Given the description of an element on the screen output the (x, y) to click on. 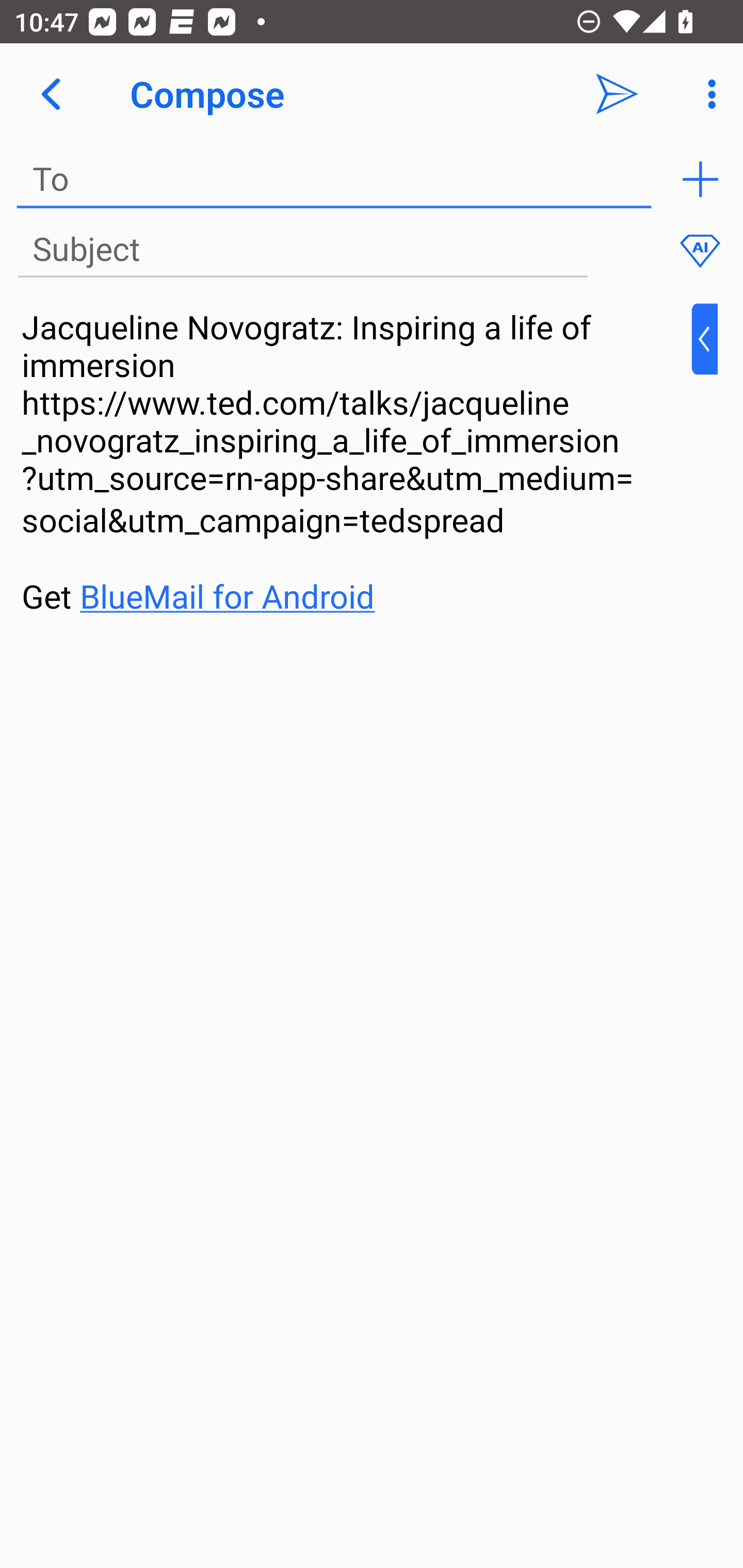
Navigate up (50, 93)
Send (616, 93)
More Options (706, 93)
To (334, 179)
Add recipient (To) (699, 179)
Subject (302, 249)
